Given the description of an element on the screen output the (x, y) to click on. 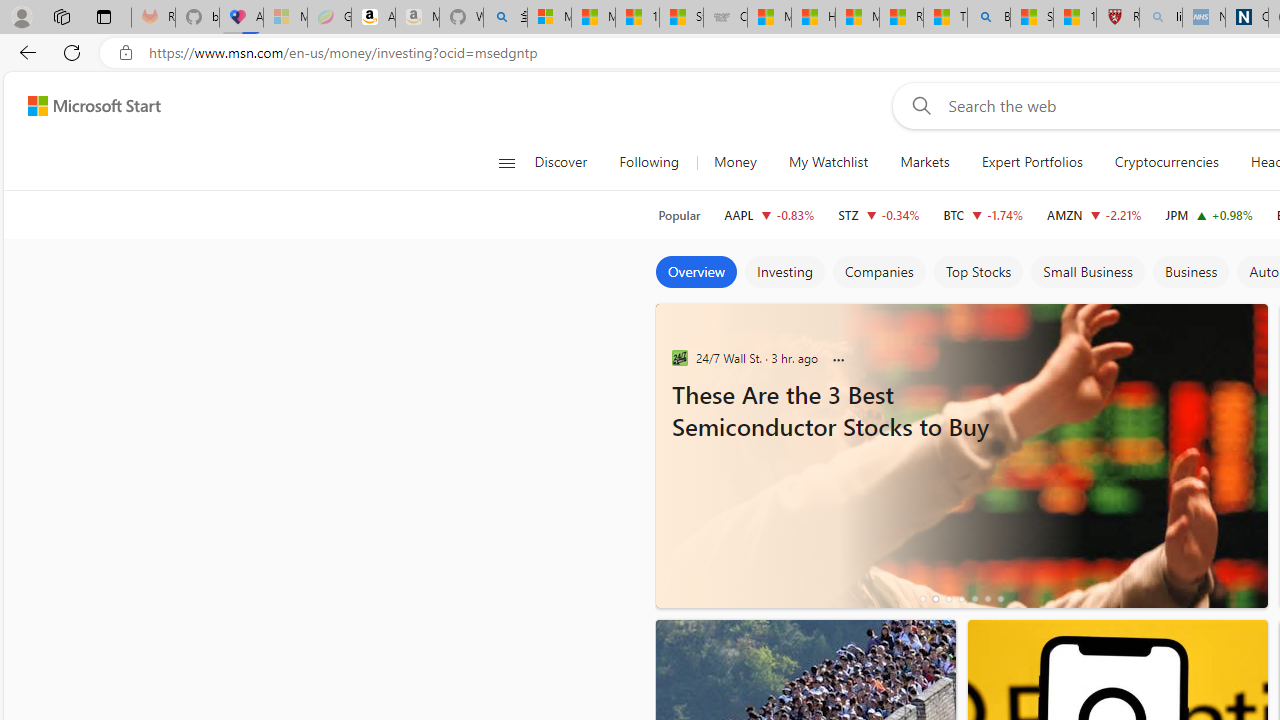
BTC Bitcoin decrease 60,359.26 -1,049.65 -1.74% (982, 214)
AMZN AMAZON.COM, INC. decrease 176.13 -3.98 -2.21% (1094, 214)
Markets (924, 162)
STZ CONSTELLATION BRANDS, INC. decrease 243.92 -0.82 -0.34% (878, 214)
